Given the description of an element on the screen output the (x, y) to click on. 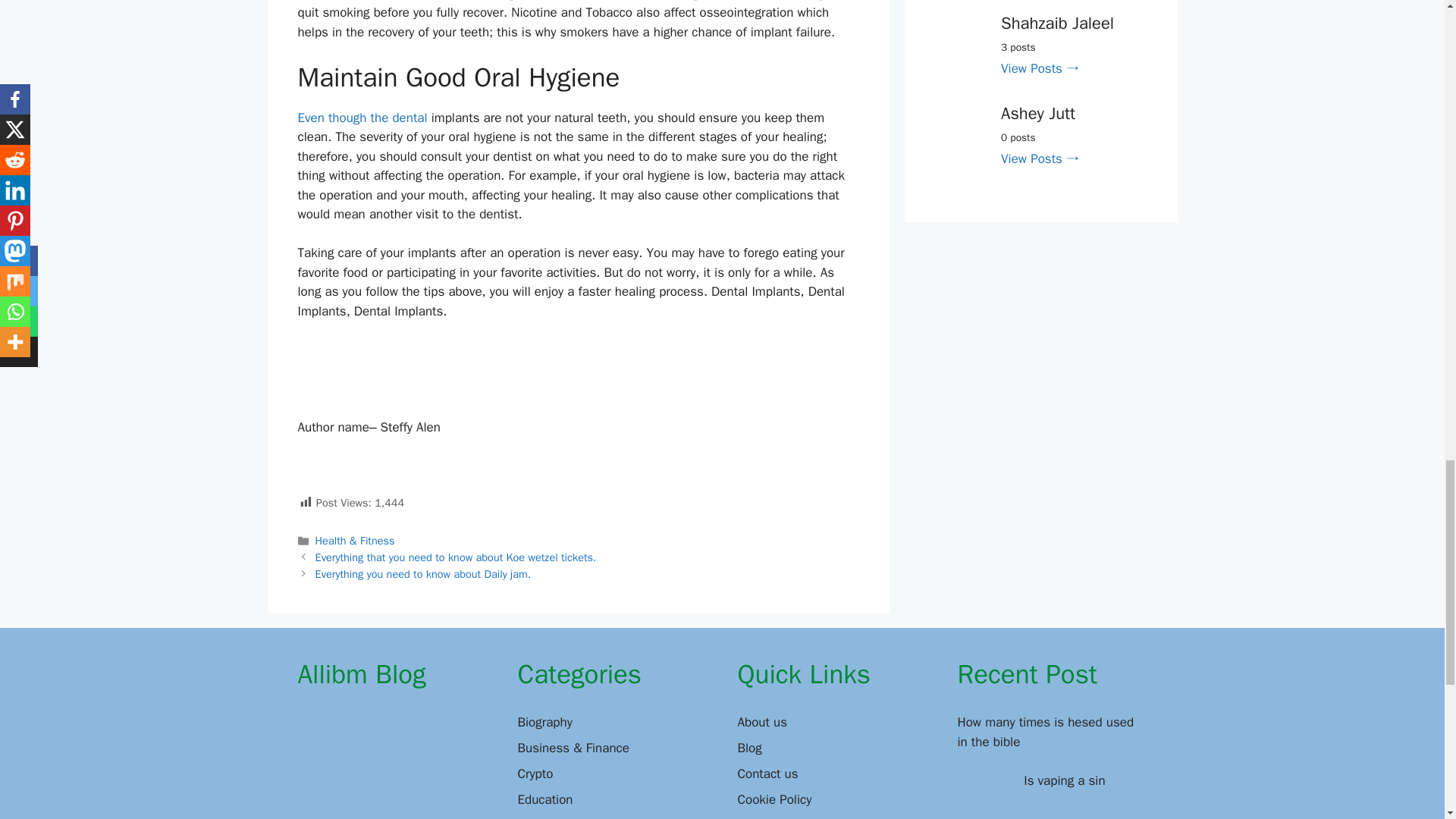
Even though the dental (361, 117)
